Given the description of an element on the screen output the (x, y) to click on. 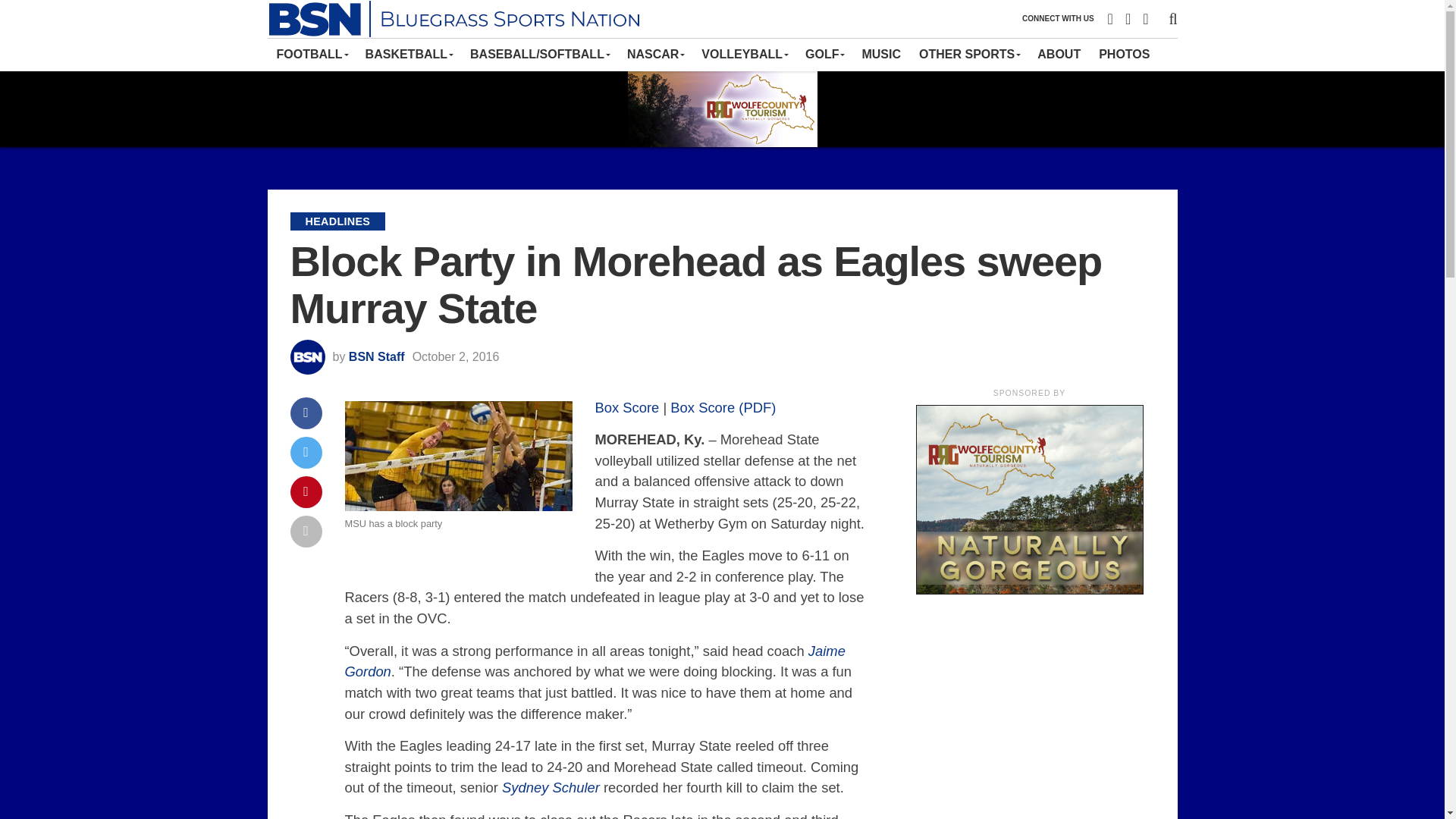
Posts by BSN Staff (376, 356)
